Given the description of an element on the screen output the (x, y) to click on. 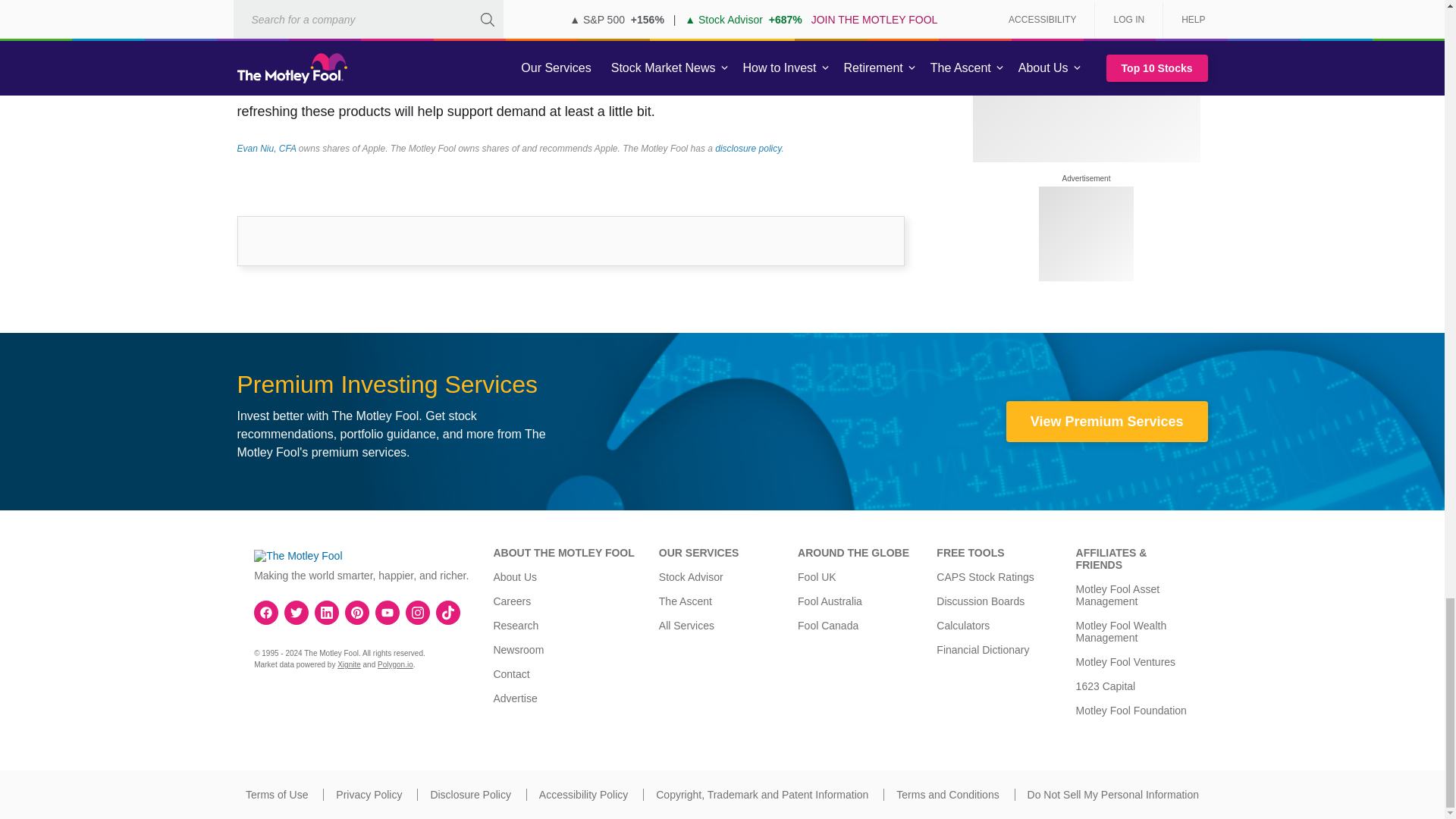
Disclosure Policy (470, 794)
Privacy Policy (368, 794)
Terms of Use (276, 794)
Accessibility Policy (582, 794)
Copyright, Trademark and Patent Information (761, 794)
Do Not Sell My Personal Information. (1112, 794)
Terms and Conditions (947, 794)
